Given the description of an element on the screen output the (x, y) to click on. 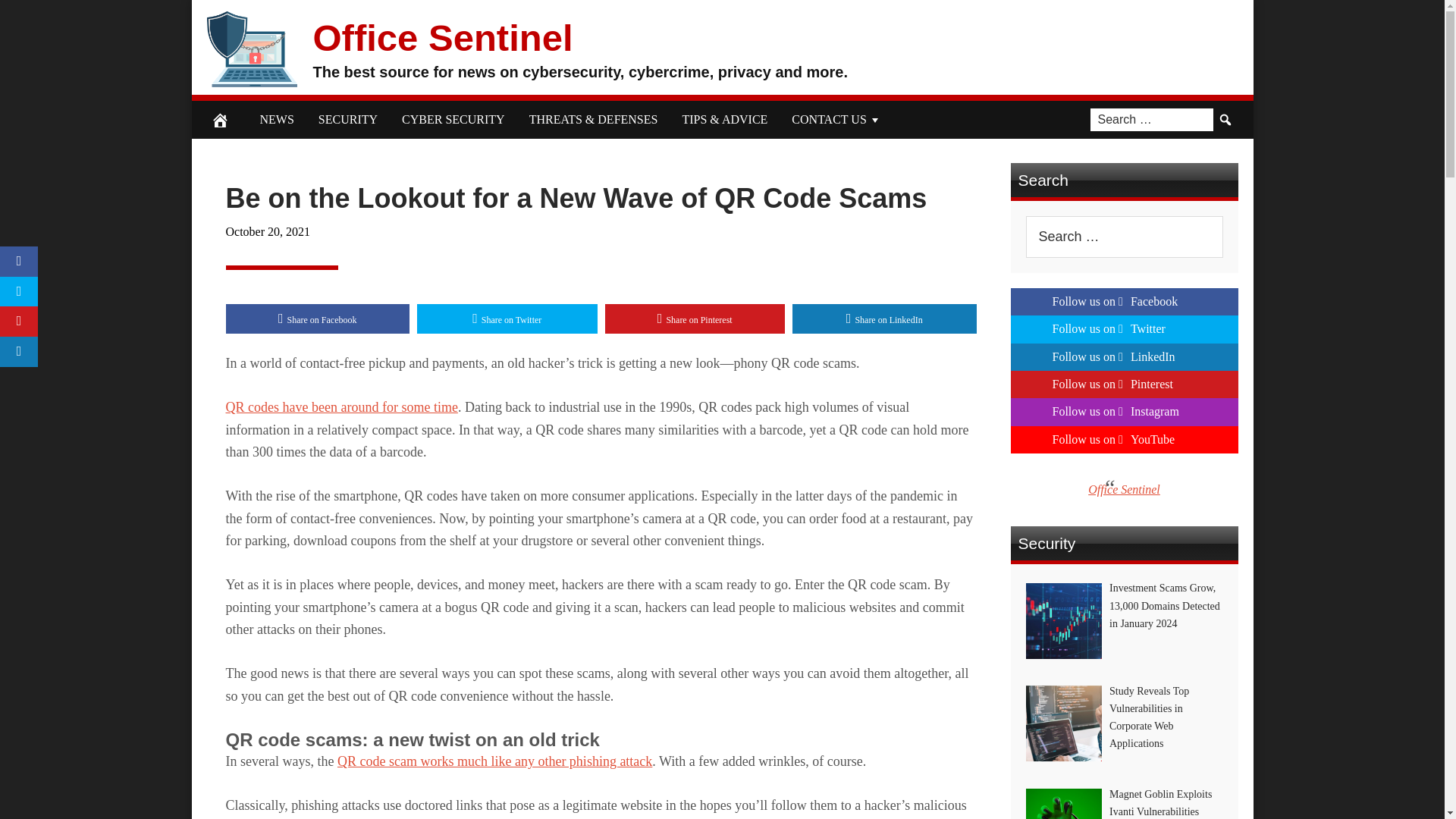
Share on Facebook (317, 318)
CYBER SECURITY (453, 119)
CONTACT US (835, 119)
Share on Twitter (506, 318)
Share on LinkedIn (884, 318)
SECURITY (347, 119)
Share on Pinterest (695, 318)
NEWS (276, 119)
